Given the description of an element on the screen output the (x, y) to click on. 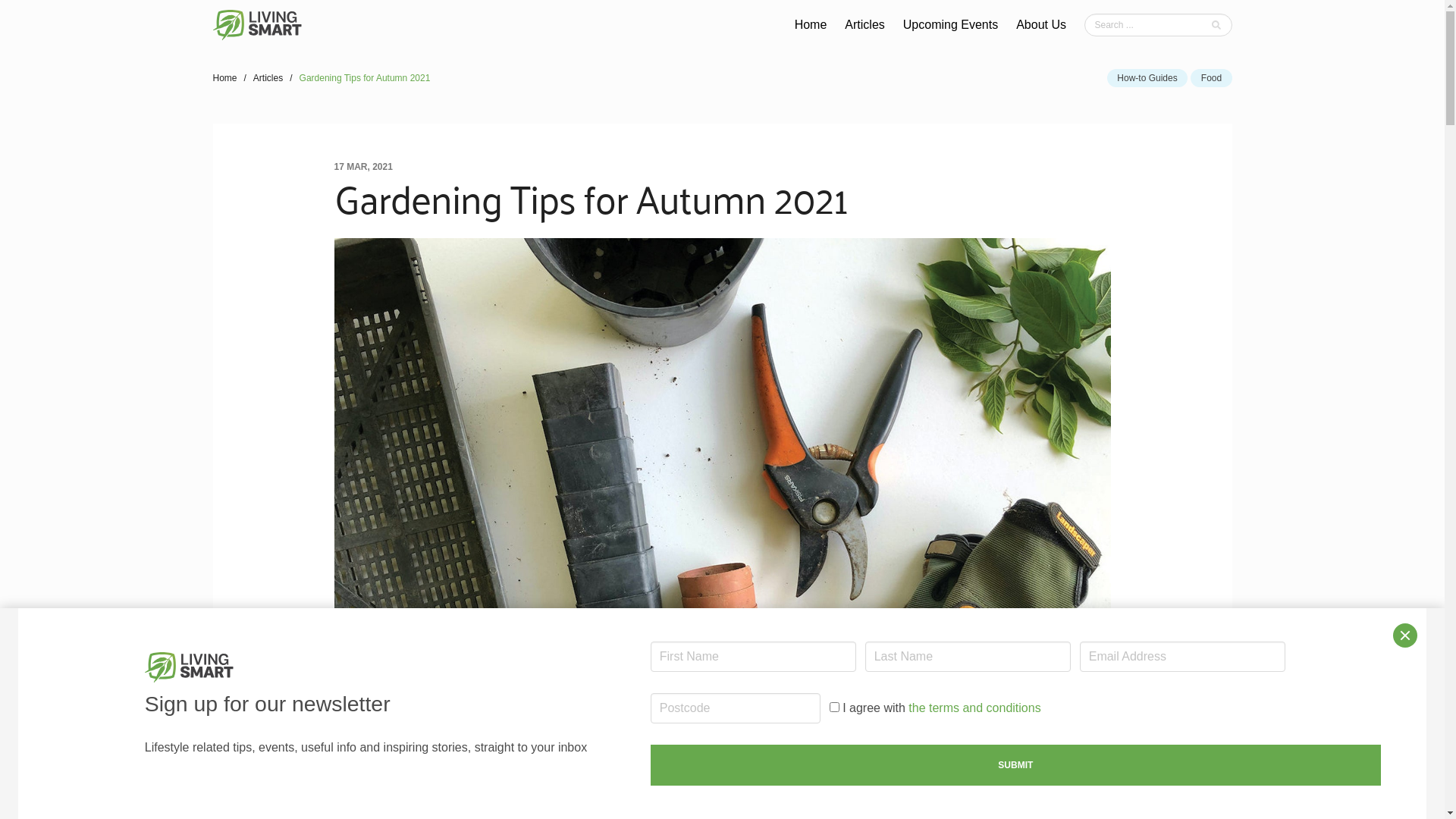
Home Element type: text (227, 77)
Home Element type: text (810, 25)
Articles Element type: text (864, 25)
the terms and conditions Element type: text (974, 707)
About Us Element type: text (1041, 25)
SUBMIT Element type: text (1015, 764)
 Food  Element type: text (1210, 78)
 How-to Guides  Element type: text (1147, 78)
Articles Element type: text (267, 77)
Upcoming Events Element type: text (950, 25)
Gardening Tips for Autumn 2021 Element type: text (364, 77)
